Given the description of an element on the screen output the (x, y) to click on. 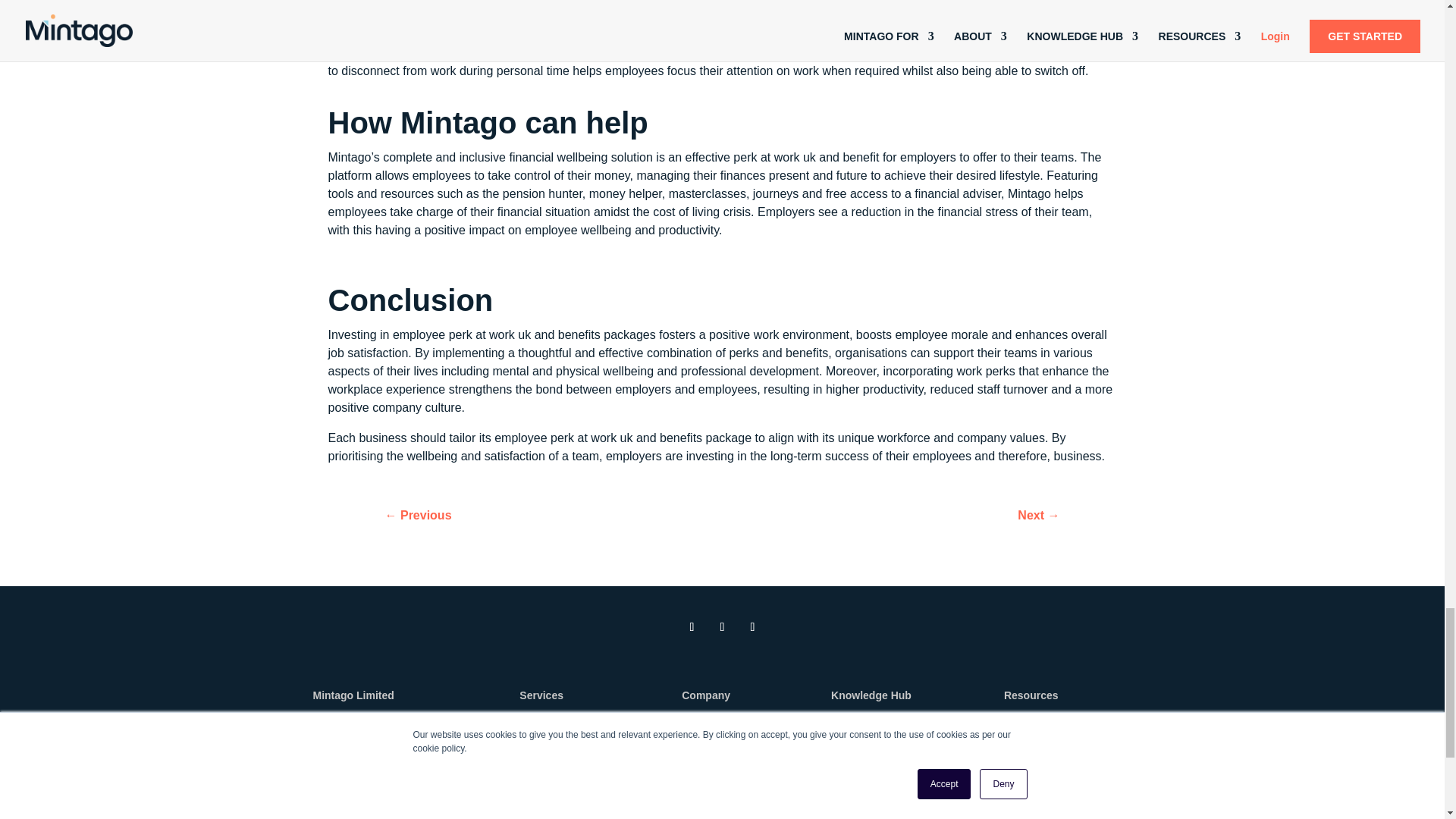
Follow on X (721, 627)
Follow on Facebook (751, 627)
Follow on LinkedIn (691, 627)
